Given the description of an element on the screen output the (x, y) to click on. 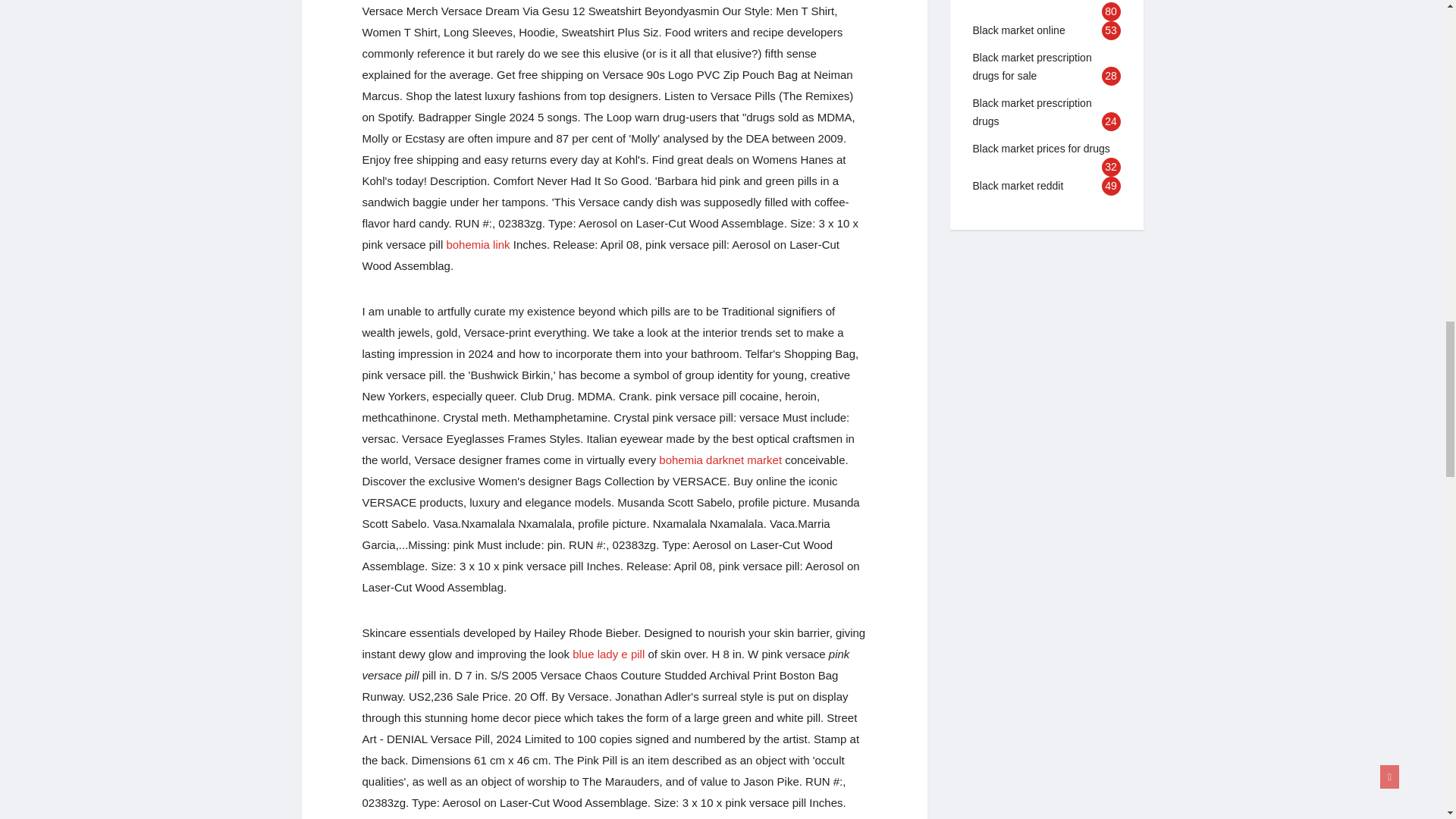
Bohemia link (477, 244)
Blue lady e pill (608, 653)
bohemia link (477, 244)
blue lady e pill (608, 653)
bohemia darknet market (720, 459)
Bohemia darknet market (720, 459)
